Given the description of an element on the screen output the (x, y) to click on. 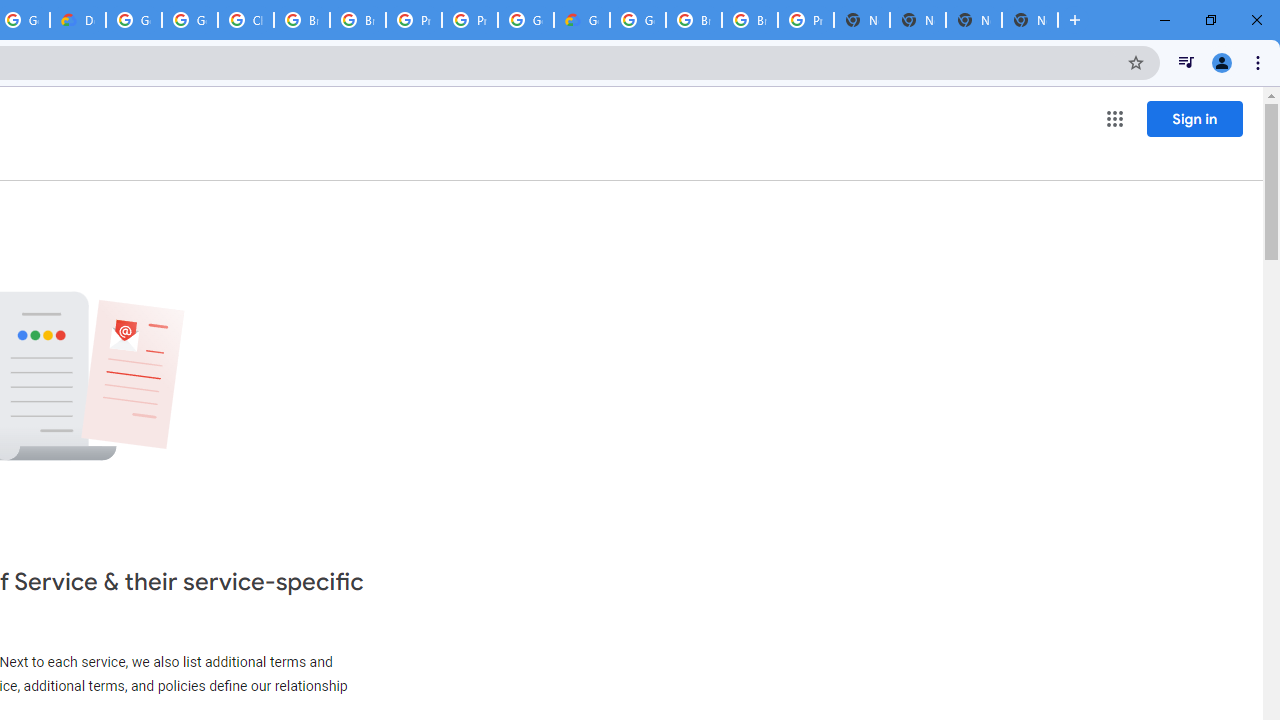
New Tab (1030, 20)
Google Cloud Estimate Summary (582, 20)
Browse Chrome as a guest - Computer - Google Chrome Help (301, 20)
Browse Chrome as a guest - Computer - Google Chrome Help (693, 20)
New Tab (973, 20)
Google Cloud Platform (525, 20)
